Given the description of an element on the screen output the (x, y) to click on. 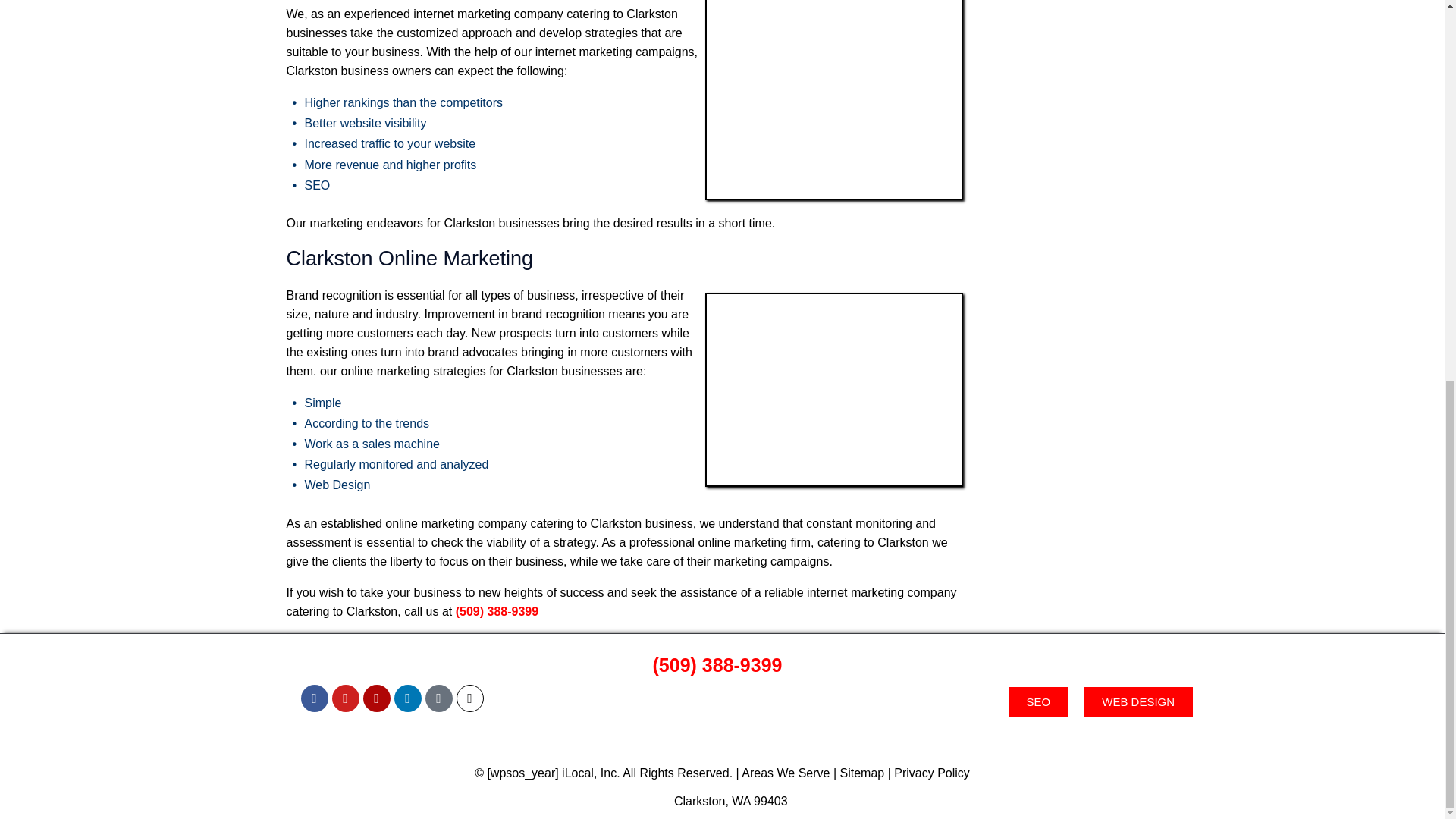
WEB DESIGN (1137, 701)
Sitemap (862, 772)
Clarkston Online Marketing (833, 389)
Web Design (337, 484)
Areas We Serve (785, 772)
SEO (1038, 701)
SEO (317, 185)
